Given the description of an element on the screen output the (x, y) to click on. 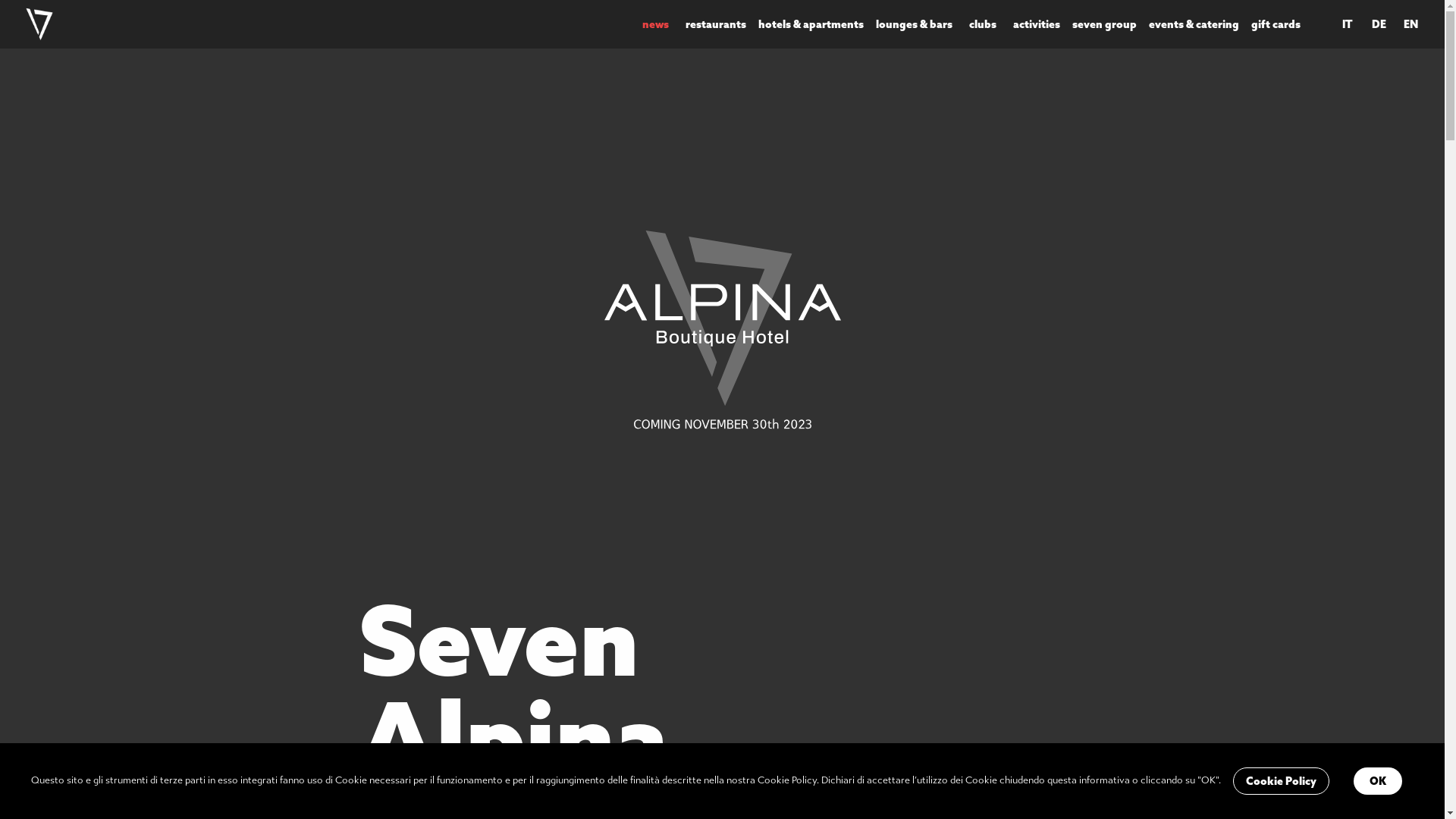
clubs Element type: text (982, 24)
news Element type: text (654, 24)
EN Element type: text (1410, 24)
IT Element type: text (1346, 24)
Cookie Policy Element type: text (1281, 781)
events & catering Element type: text (1193, 24)
activities Element type: text (1036, 24)
hotels & apartments Element type: text (810, 24)
lounges & bars Element type: text (913, 24)
OK Element type: text (1376, 781)
restaurants Element type: text (715, 24)
DE Element type: text (1378, 24)
SEVEN GROUP Element type: hover (324, 24)
seven group Element type: text (1104, 24)
gift cards Element type: text (1275, 24)
